Given the description of an element on the screen output the (x, y) to click on. 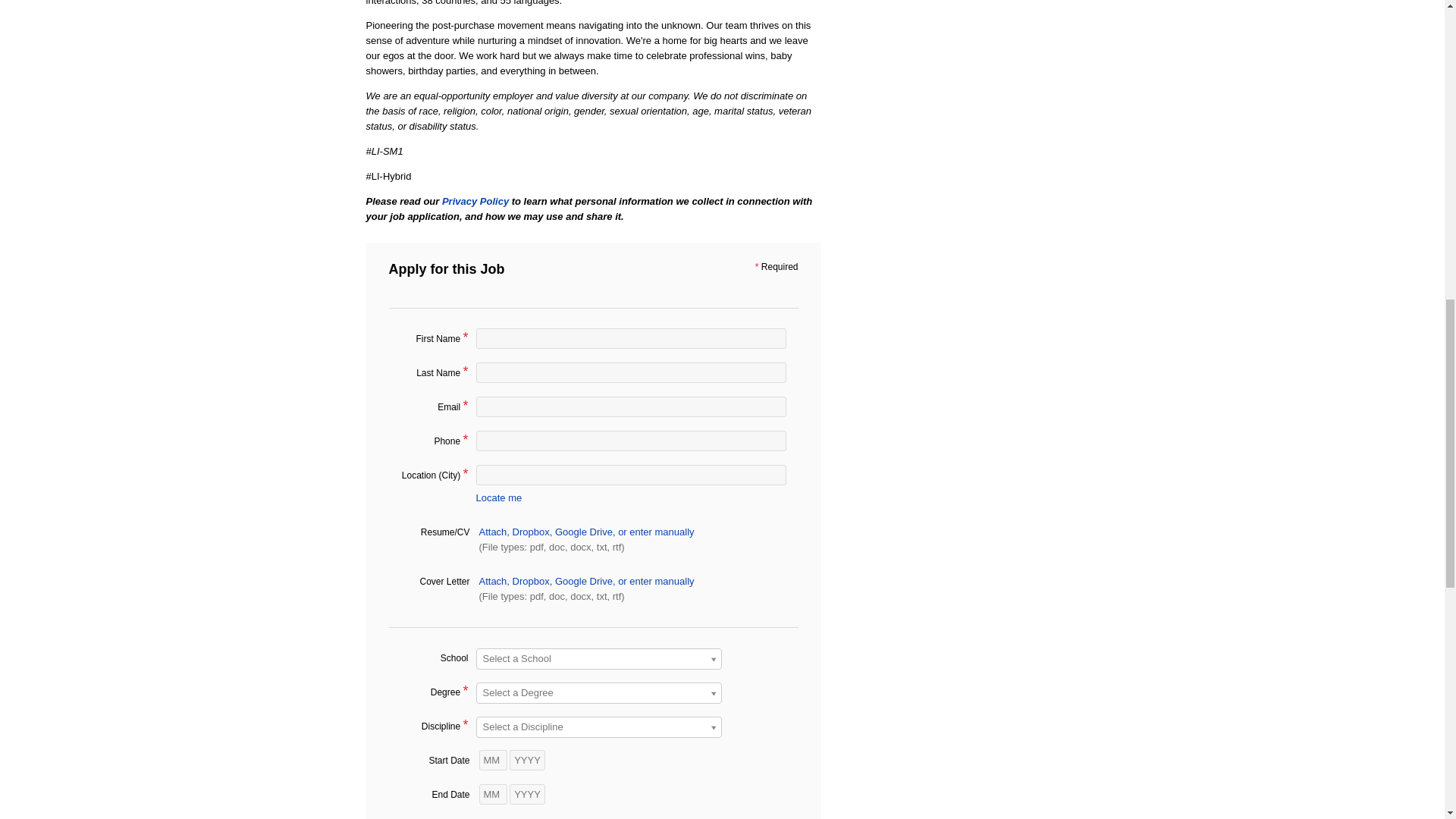
Google Drive (584, 581)
or enter manually (655, 581)
Privacy Policy (475, 201)
Select a Discipline (599, 726)
Select a School (599, 658)
Google Drive (584, 531)
Locate me (499, 497)
Dropbox (532, 531)
Select a Degree (599, 692)
Attach (494, 531)
Attach (494, 581)
Dropbox (532, 581)
or enter manually (655, 531)
